Given the description of an element on the screen output the (x, y) to click on. 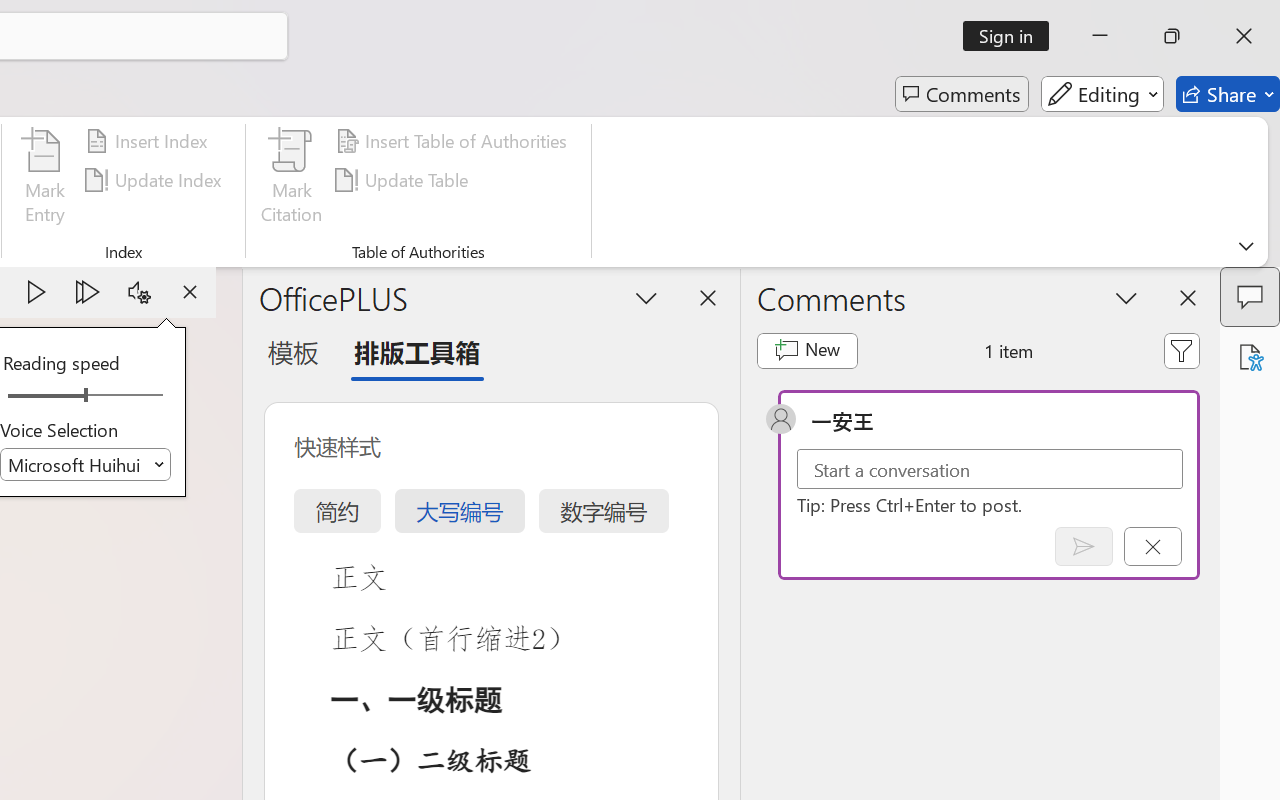
Update Table (404, 179)
Next Paragraph (87, 292)
Stop (190, 292)
Filter (1181, 350)
Settings (139, 292)
Mark Citation... (292, 179)
Reading speed (85, 396)
Cancel (1152, 546)
